Given the description of an element on the screen output the (x, y) to click on. 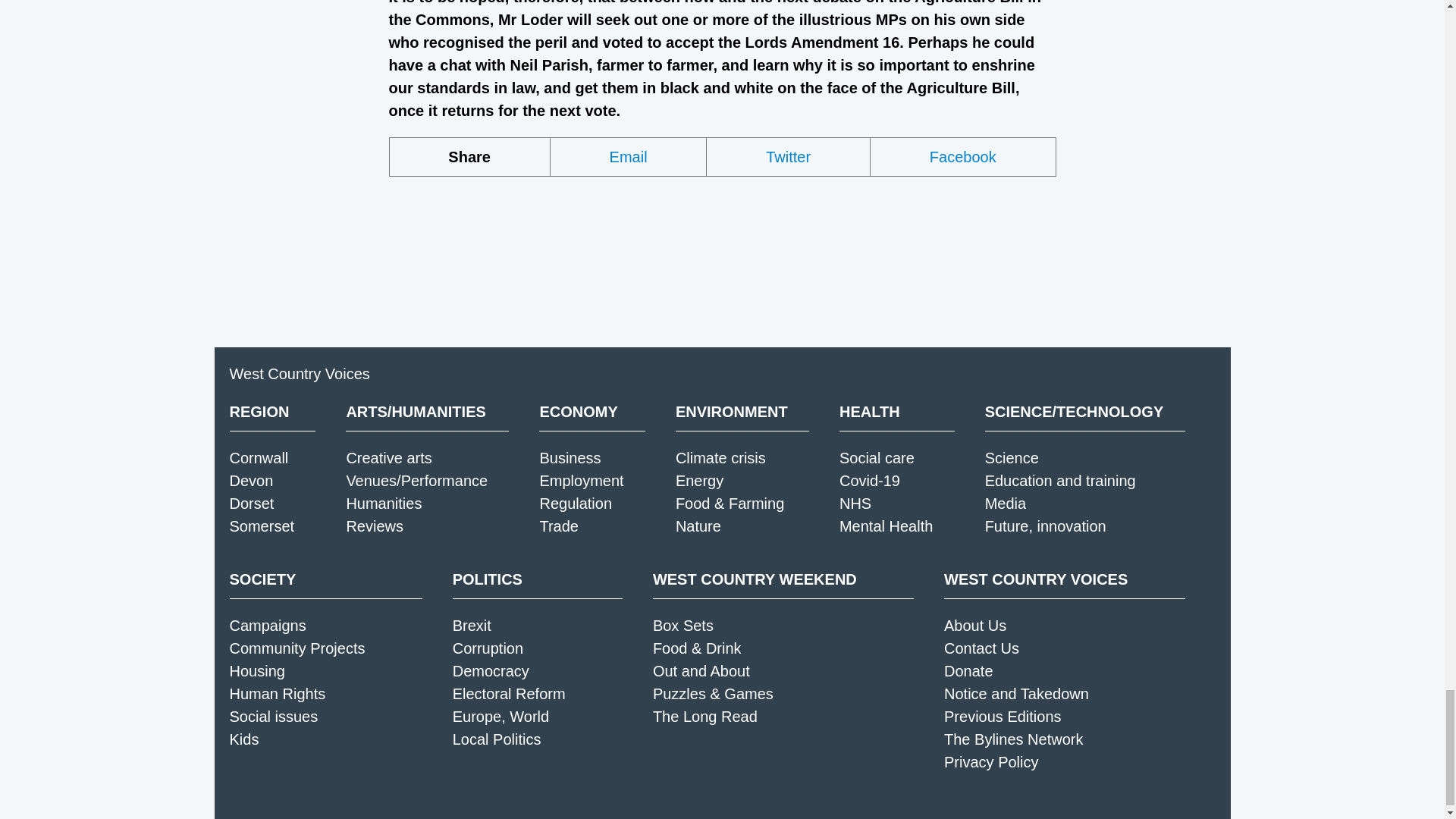
Email (628, 157)
Somerset (261, 525)
REGION (271, 411)
Creative arts (388, 457)
Dorset (250, 503)
Twitter (788, 157)
Humanities (384, 503)
Cornwall (258, 457)
Devon (250, 480)
Reviews (374, 525)
